Given the description of an element on the screen output the (x, y) to click on. 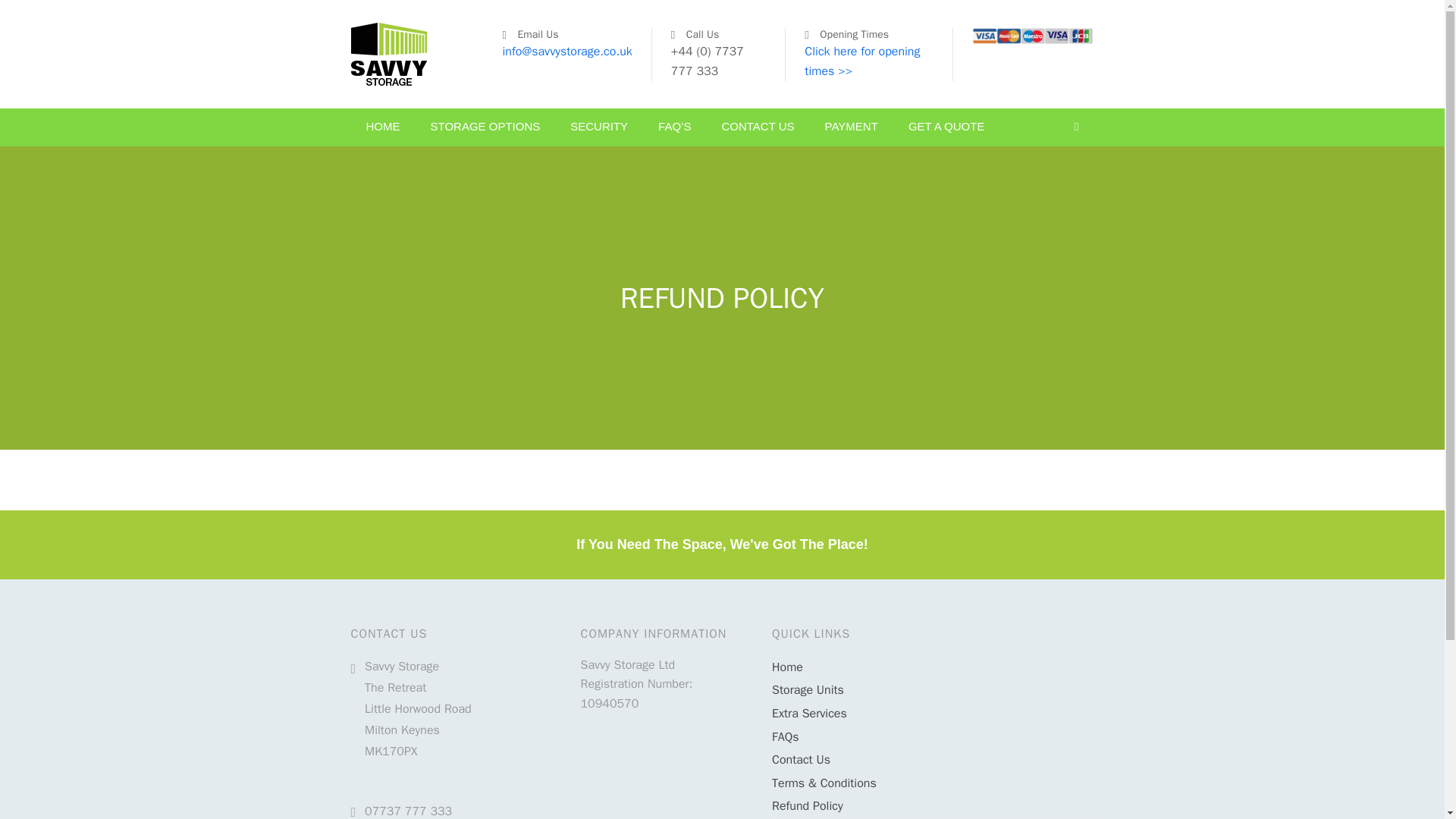
CONTACT US (757, 127)
Refund Policy (807, 806)
SECURITY (598, 127)
Extra Services (809, 713)
Home (787, 667)
Storage Units (807, 689)
HOME (382, 127)
GET A QUOTE (946, 127)
STORAGE OPTIONS (485, 127)
FAQs (784, 736)
Contact Us (800, 759)
PAYMENT (851, 127)
